Given the description of an element on the screen output the (x, y) to click on. 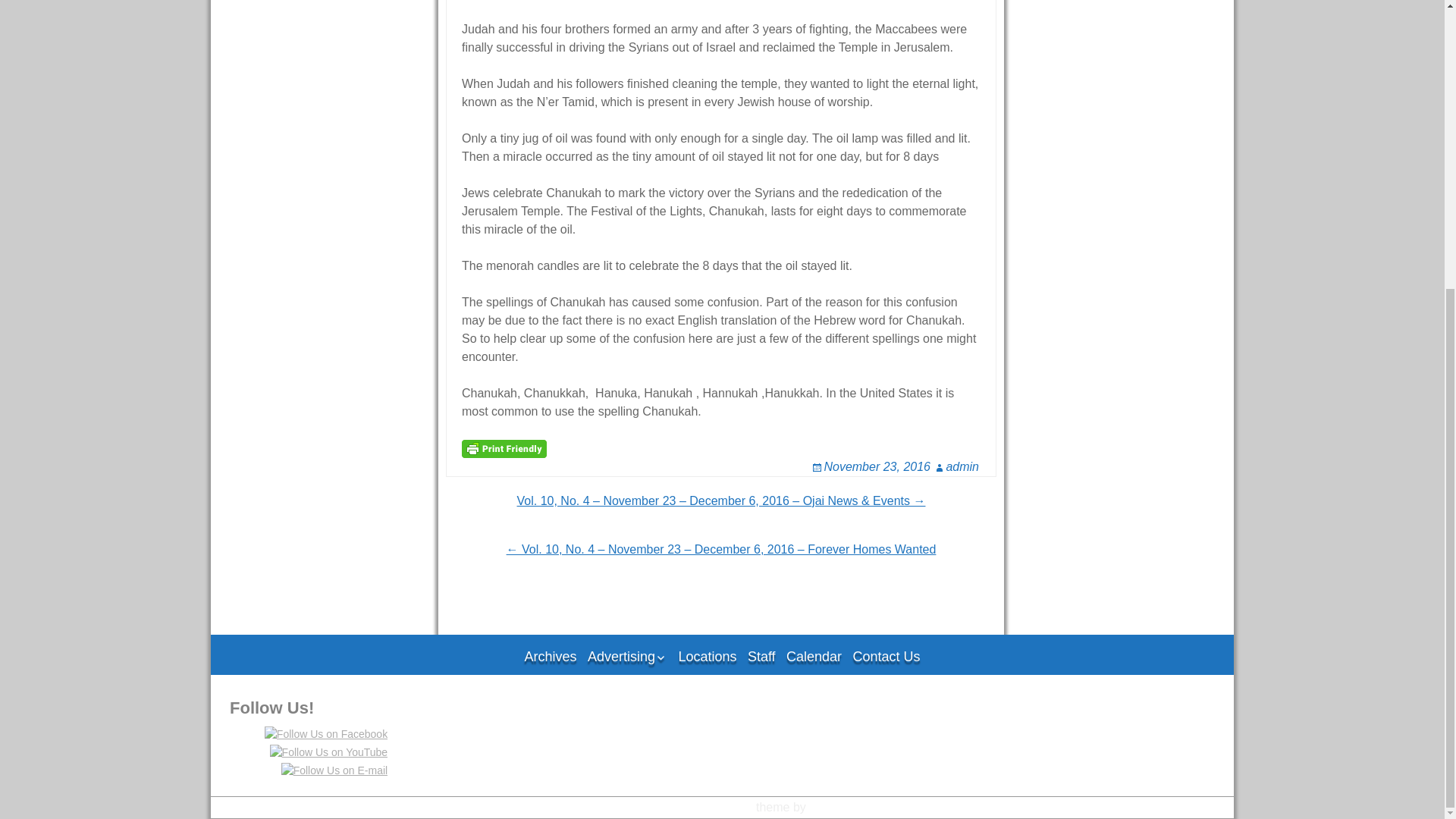
Follow Us on E-mail (334, 770)
Follow Us on YouTube (328, 752)
Follow Us on Facebook (325, 734)
